Given the description of an element on the screen output the (x, y) to click on. 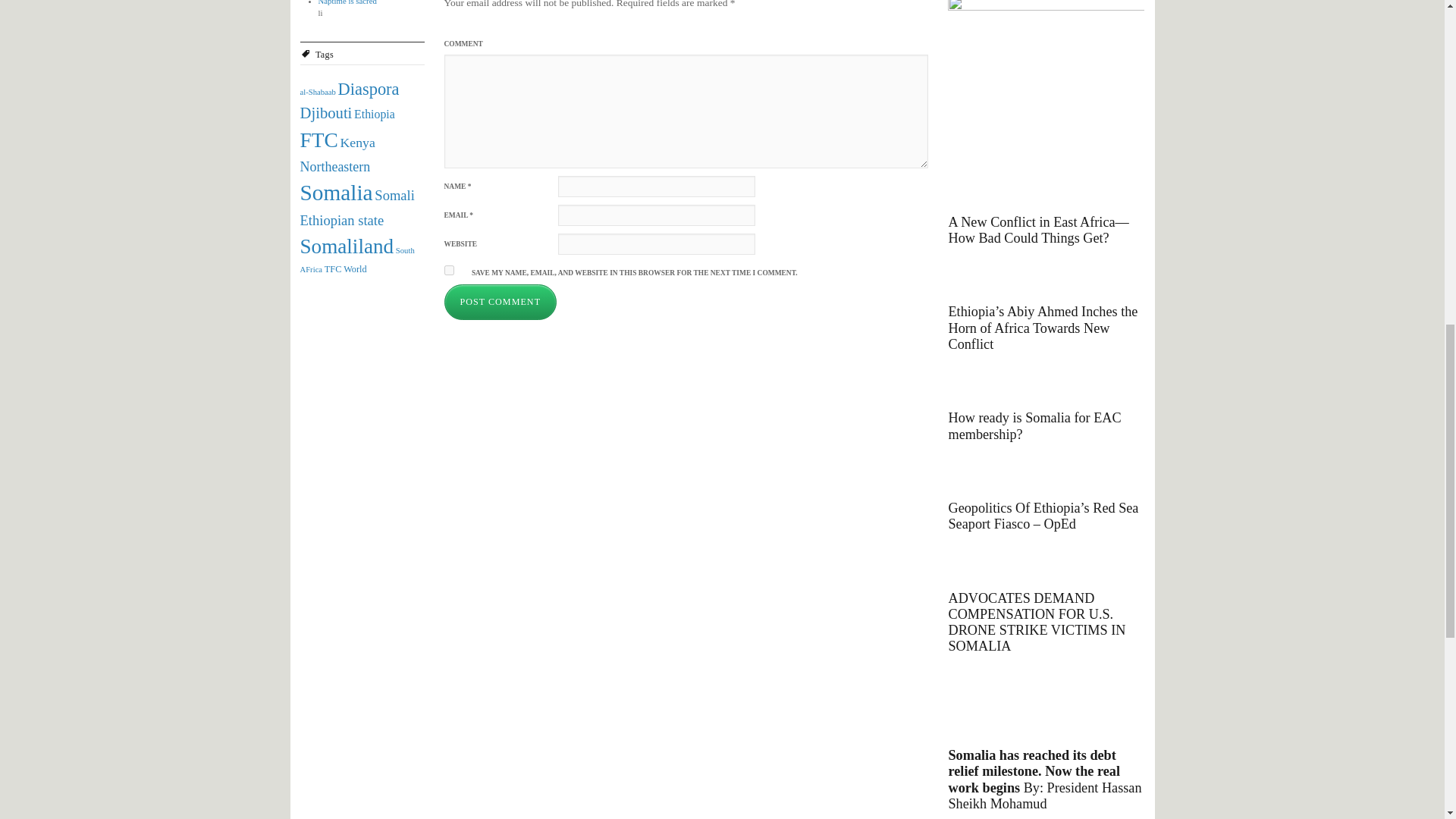
South AFrica (356, 259)
Naptime is sacred (347, 2)
Somalia (335, 192)
Somali Ethiopian state (356, 207)
Post Comment (500, 302)
World (354, 268)
Ethiopia (373, 113)
TFC (333, 268)
Djibouti (325, 112)
Kenya (357, 142)
al-Shabaab (317, 91)
Somaliland (346, 246)
yes (449, 270)
Northeastern (335, 166)
FTC (318, 139)
